Given the description of an element on the screen output the (x, y) to click on. 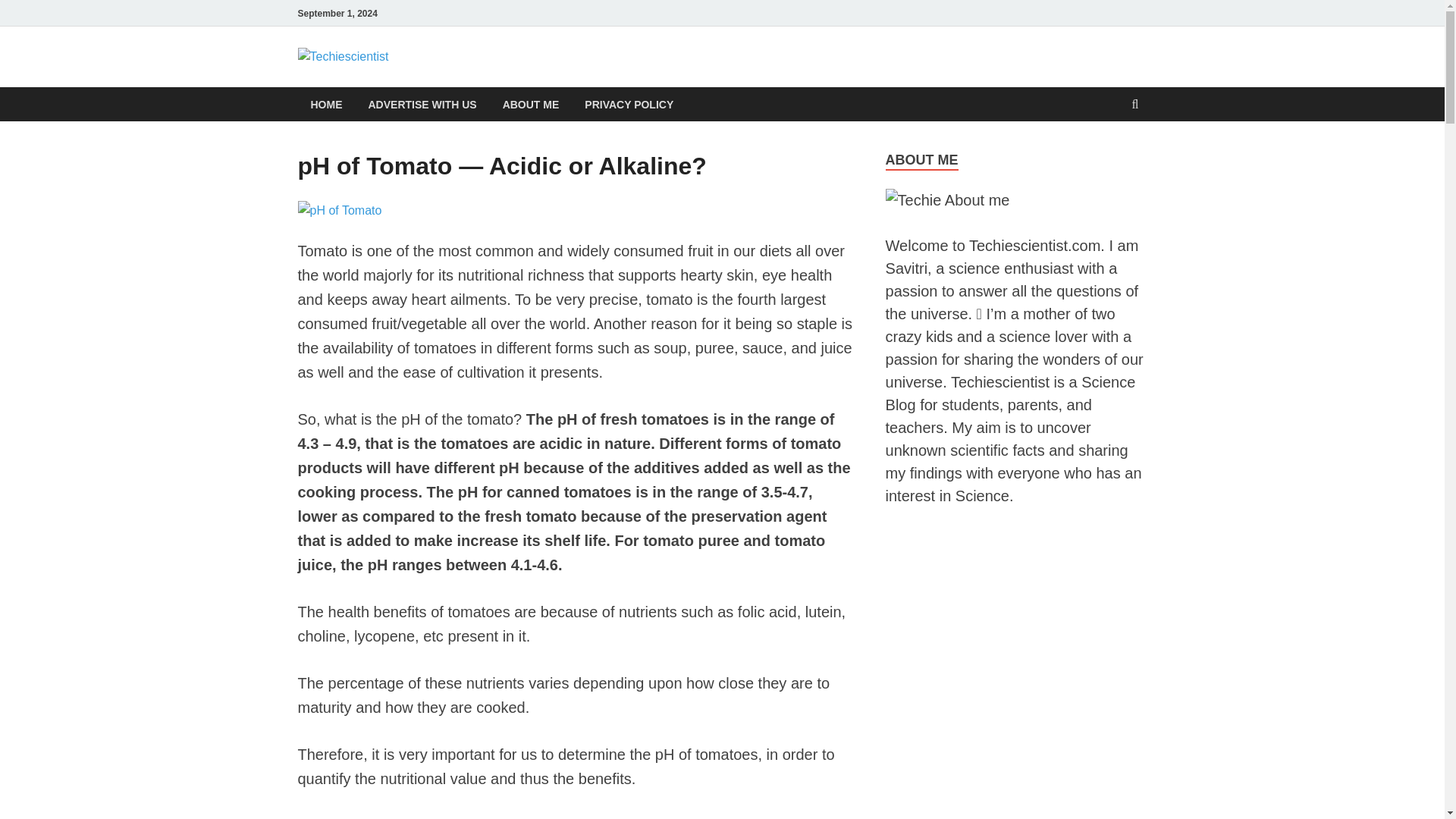
PRIVACY POLICY (628, 103)
ABOUT ME (530, 103)
Techiescientist (497, 78)
ADVERTISE WITH US (422, 103)
HOME (326, 103)
